Given the description of an element on the screen output the (x, y) to click on. 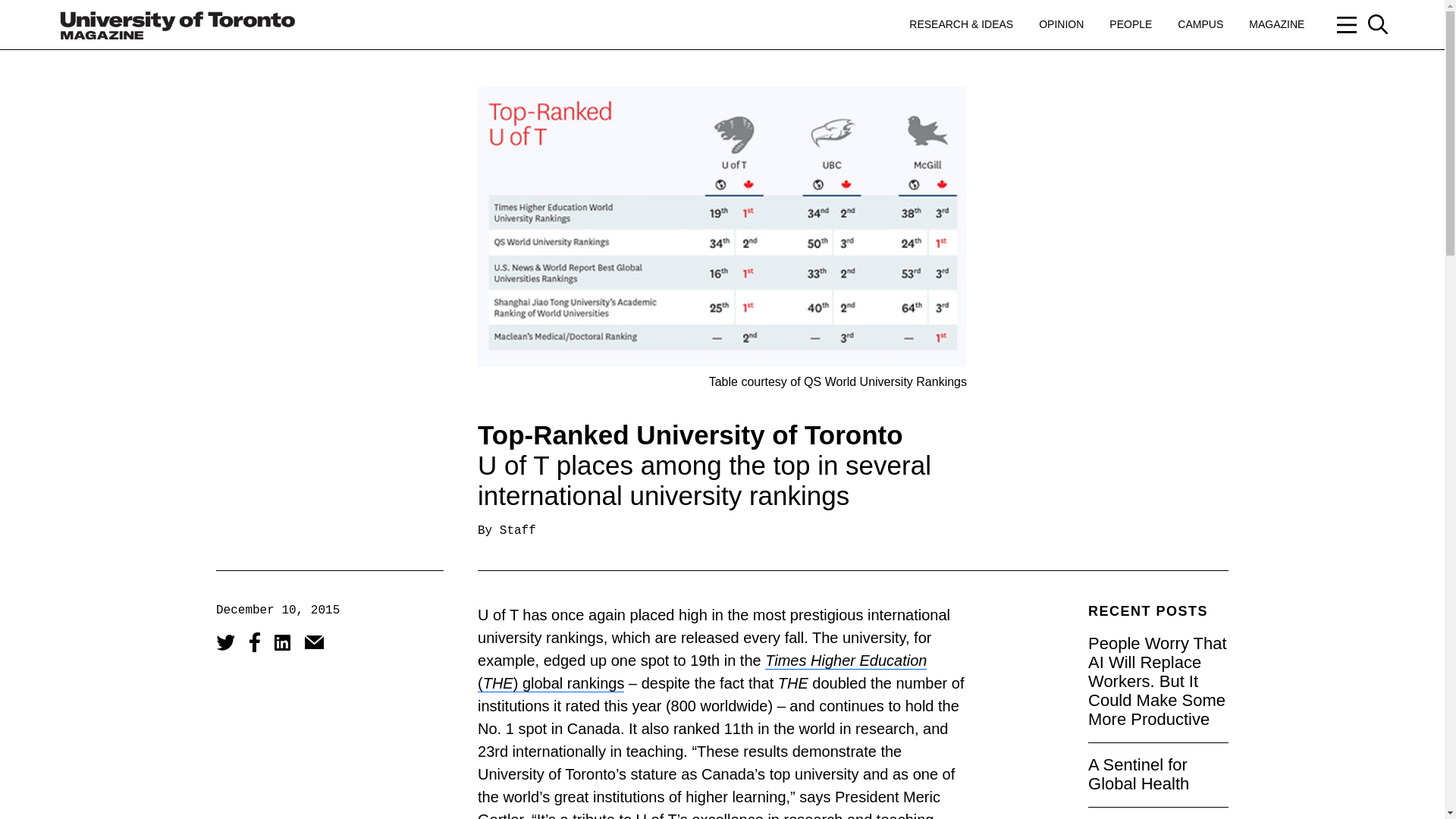
MAGAZINE (1276, 24)
CAMPUS (1200, 24)
Posts by Staff (517, 531)
PEOPLE (1130, 24)
Staff (517, 531)
A Sentinel for Global Health (1138, 774)
OPINION (1061, 24)
